Given the description of an element on the screen output the (x, y) to click on. 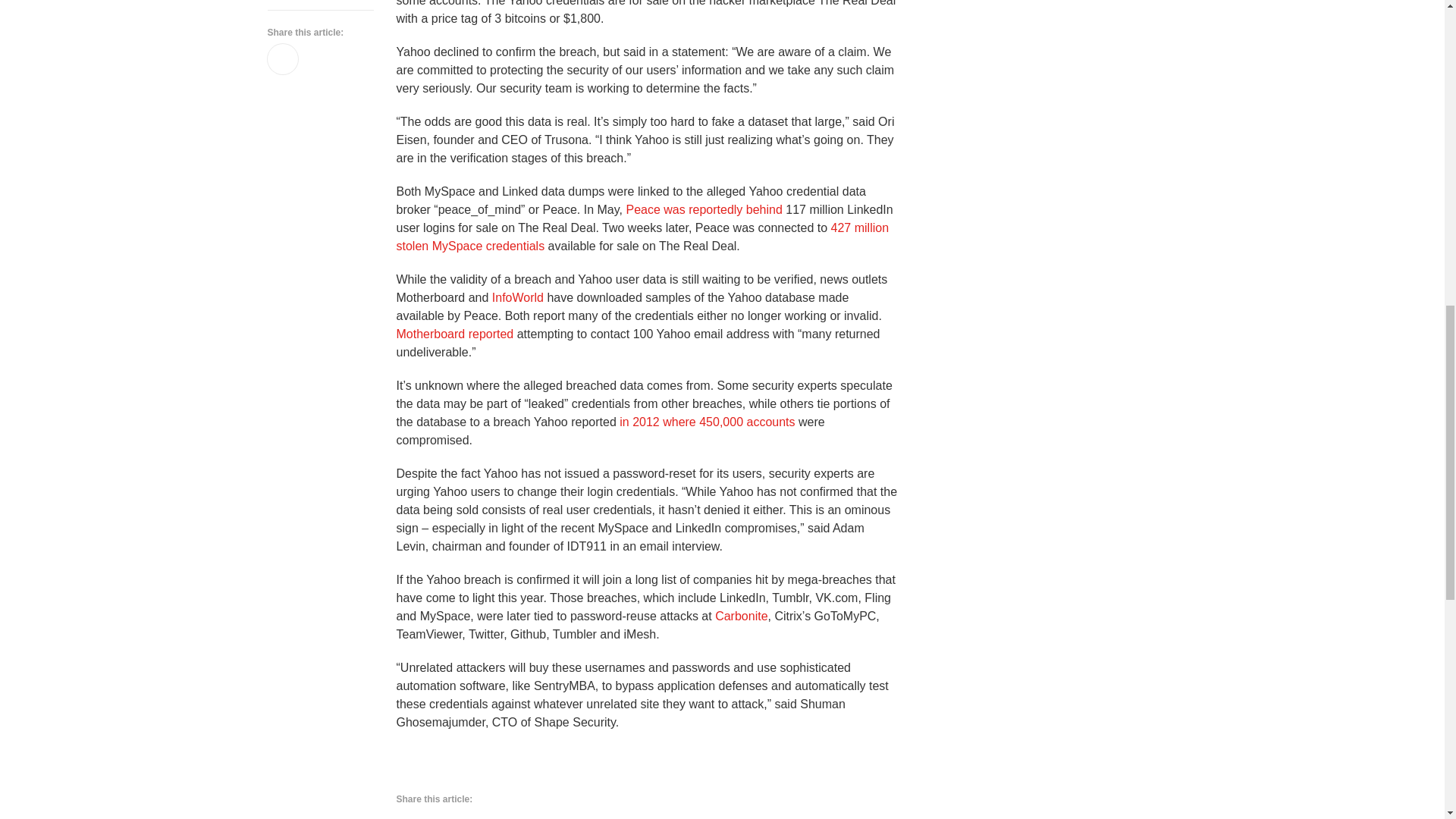
Motherboard reported (454, 333)
Peace was reportedly behind (703, 209)
Carbonite (740, 615)
InfoWorld (517, 297)
427 million stolen MySpace credentials (642, 236)
in 2012 where 450,000 accounts (707, 421)
